Given the description of an element on the screen output the (x, y) to click on. 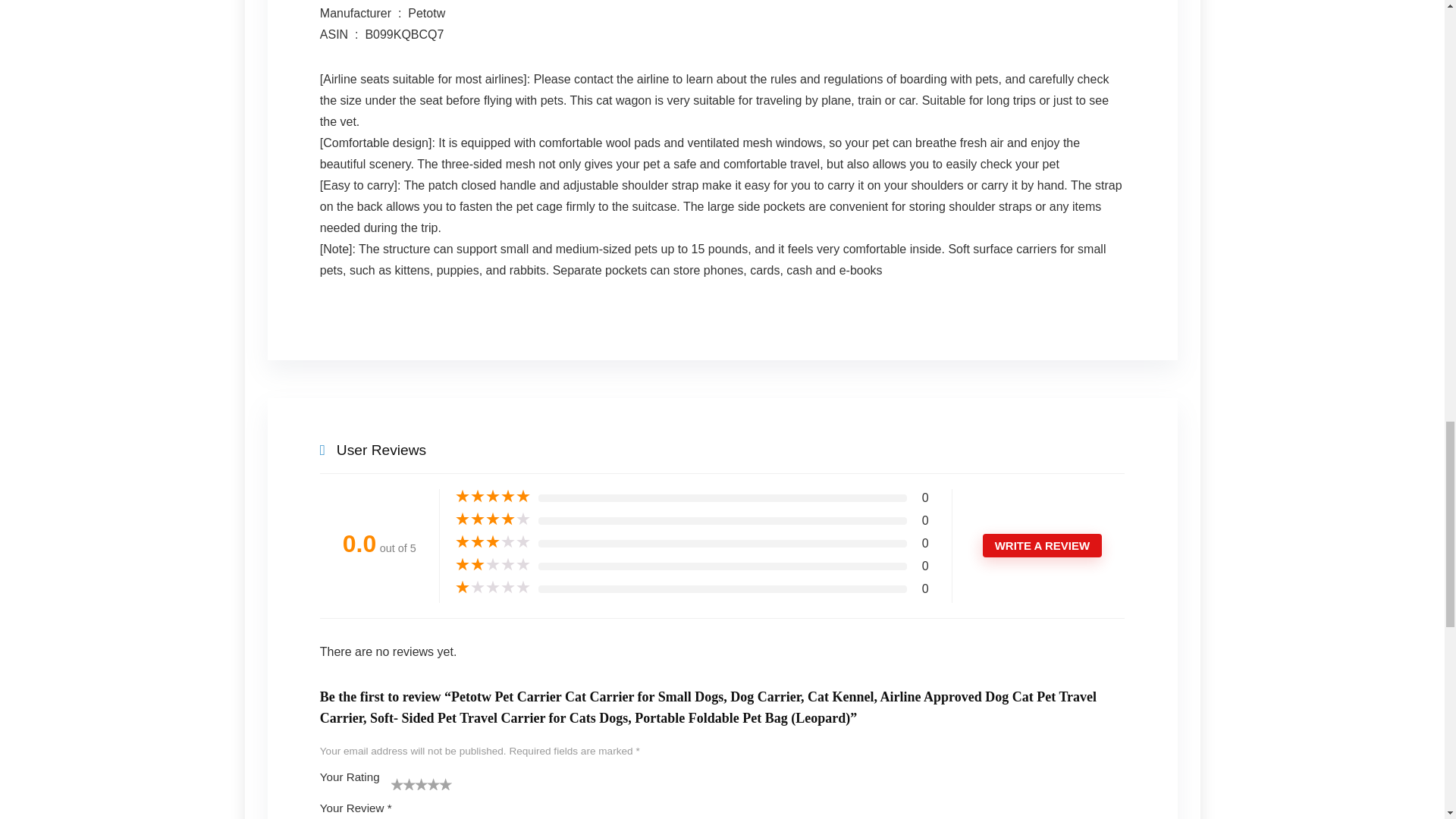
Rated 3 out of 5 (492, 541)
Rated 1 out of 5 (492, 587)
Rated 2 out of 5 (492, 564)
Rated 5 out of 5 (492, 496)
1 (397, 784)
2 (402, 784)
WRITE A REVIEW (1042, 545)
Rated 4 out of 5 (492, 519)
